Given the description of an element on the screen output the (x, y) to click on. 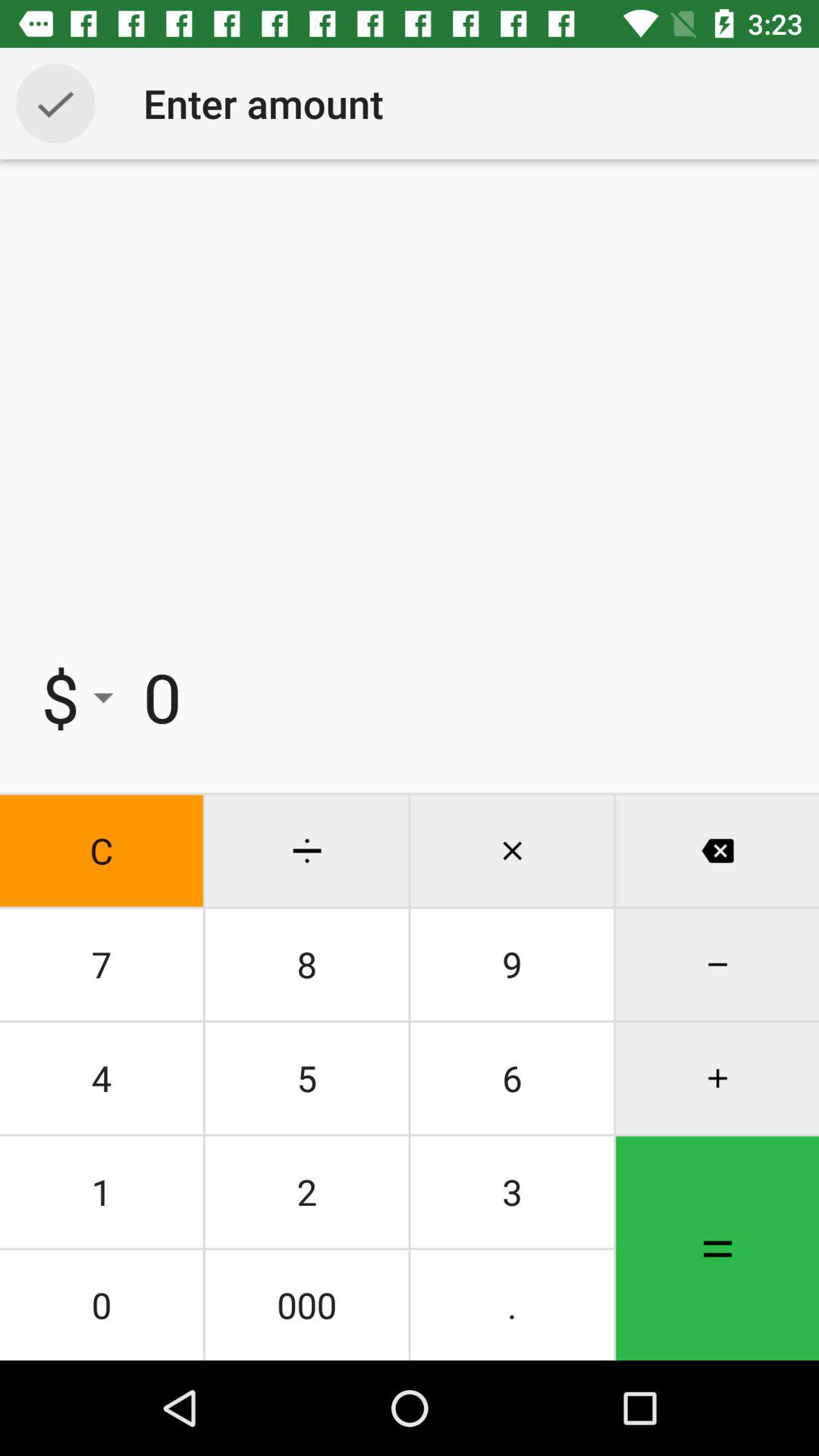
go to selection option (55, 103)
